Given the description of an element on the screen output the (x, y) to click on. 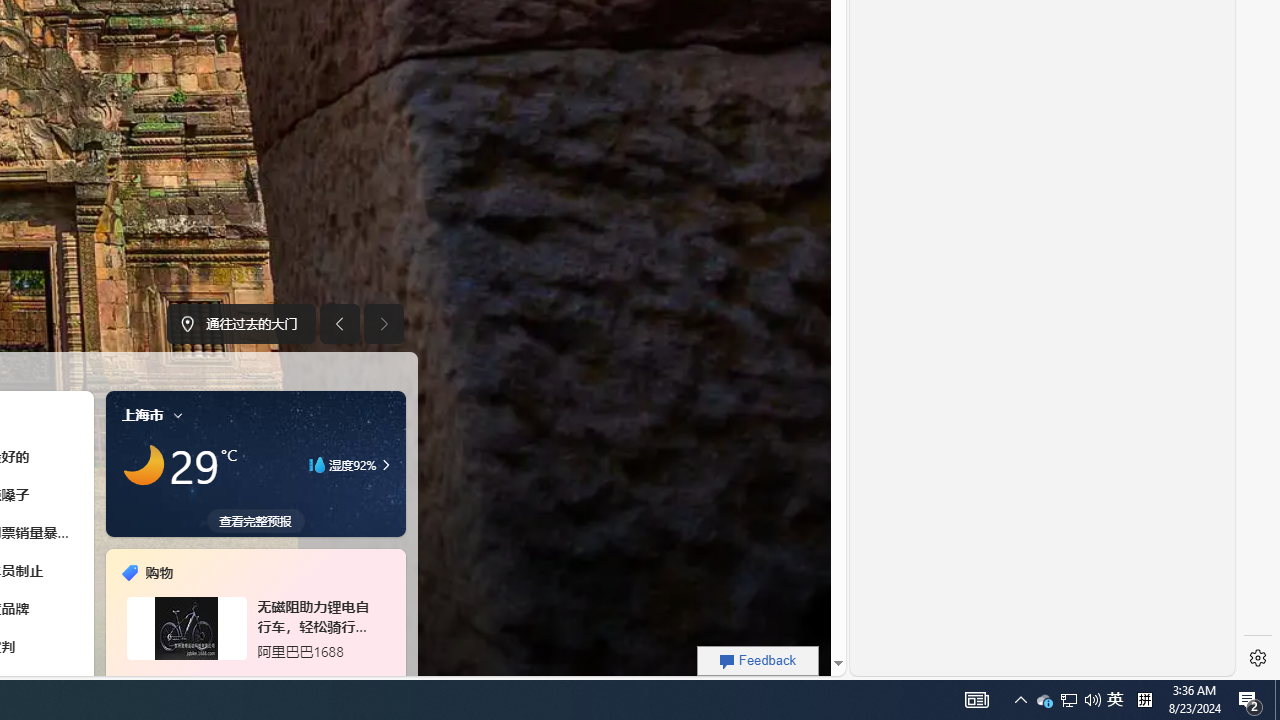
tab-3 (267, 678)
tab-4 (278, 678)
Previous image (338, 323)
tab-1 (242, 678)
